Given the description of an element on the screen output the (x, y) to click on. 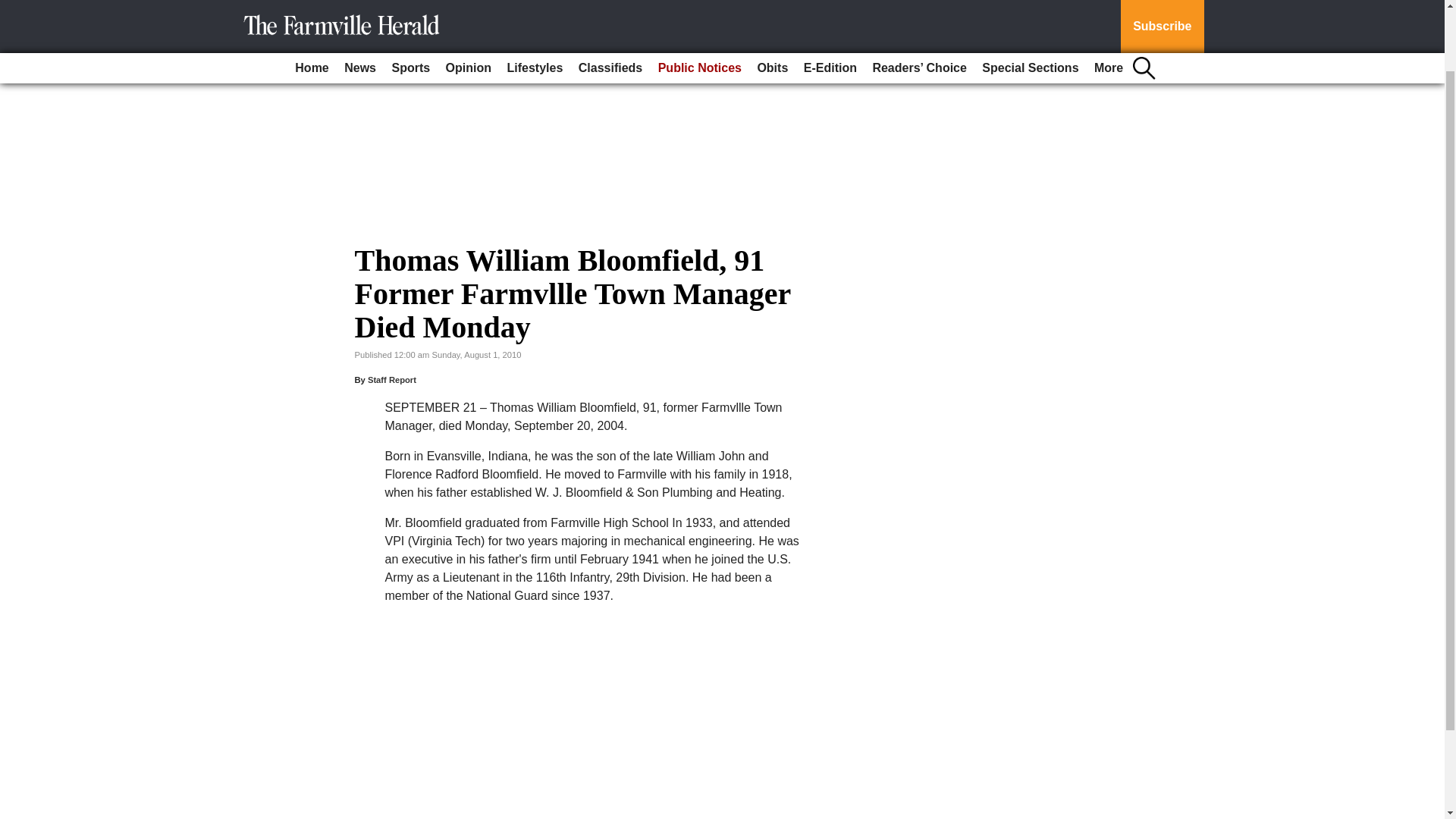
Obits (772, 4)
News (359, 4)
Lifestyles (534, 4)
Staff Report (392, 379)
Opinion (468, 4)
Special Sections (1029, 4)
More (1108, 4)
Sports (410, 4)
Classifieds (609, 4)
E-Edition (830, 4)
